Given the description of an element on the screen output the (x, y) to click on. 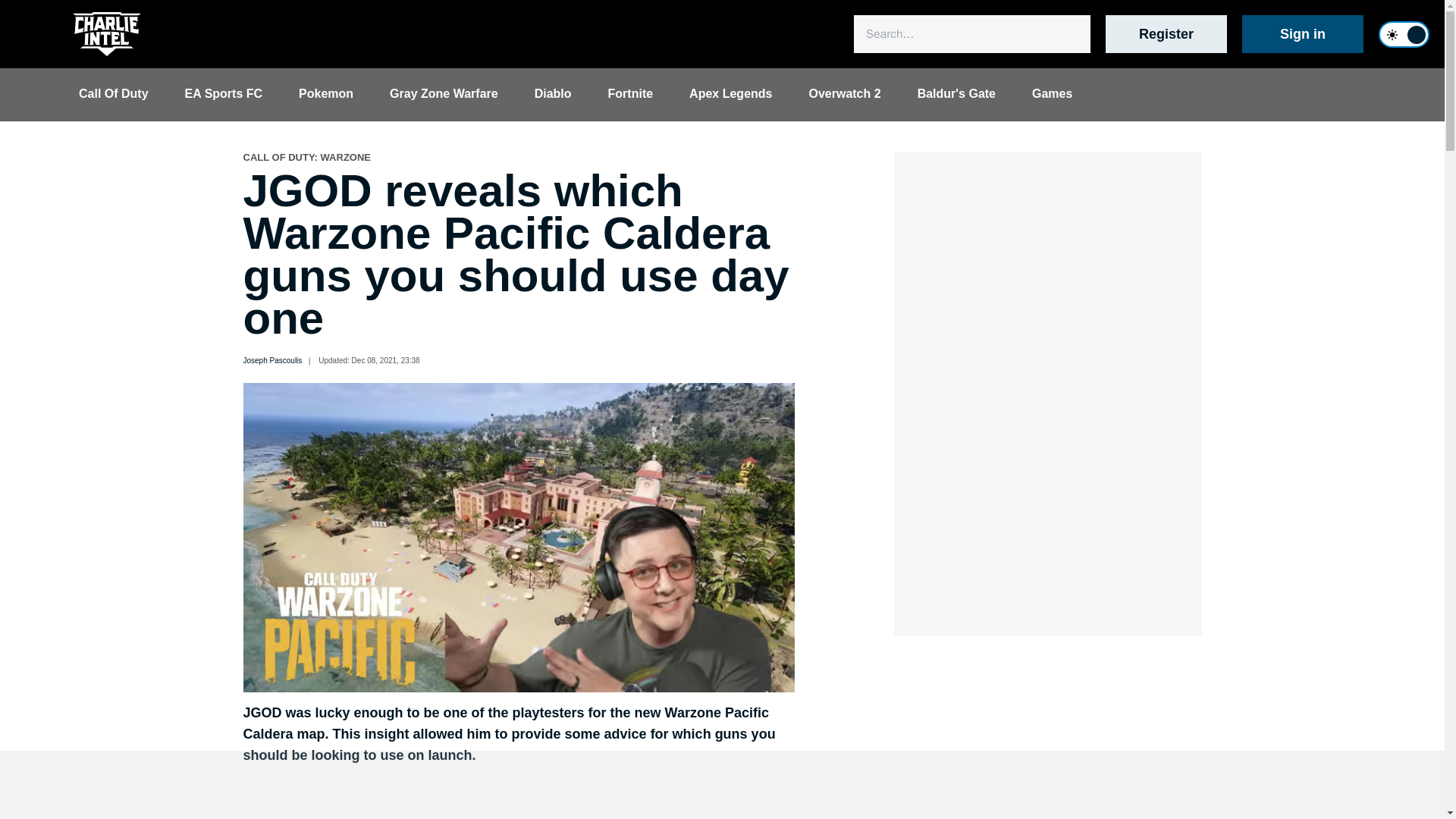
Register (1166, 34)
Joseph Pascoulis (272, 360)
Baldur'S Gate (956, 93)
Games (1051, 93)
Diablo (552, 93)
CALL OF DUTY: WARZONE (307, 157)
Fortnite (630, 93)
Gray Zone Warfare (443, 93)
Pokemon (326, 93)
Sign in (1301, 34)
Call Of Duty (114, 93)
EA Sports FC (224, 93)
Overwatch 2 (844, 93)
Apex Legends (730, 93)
